Given the description of an element on the screen output the (x, y) to click on. 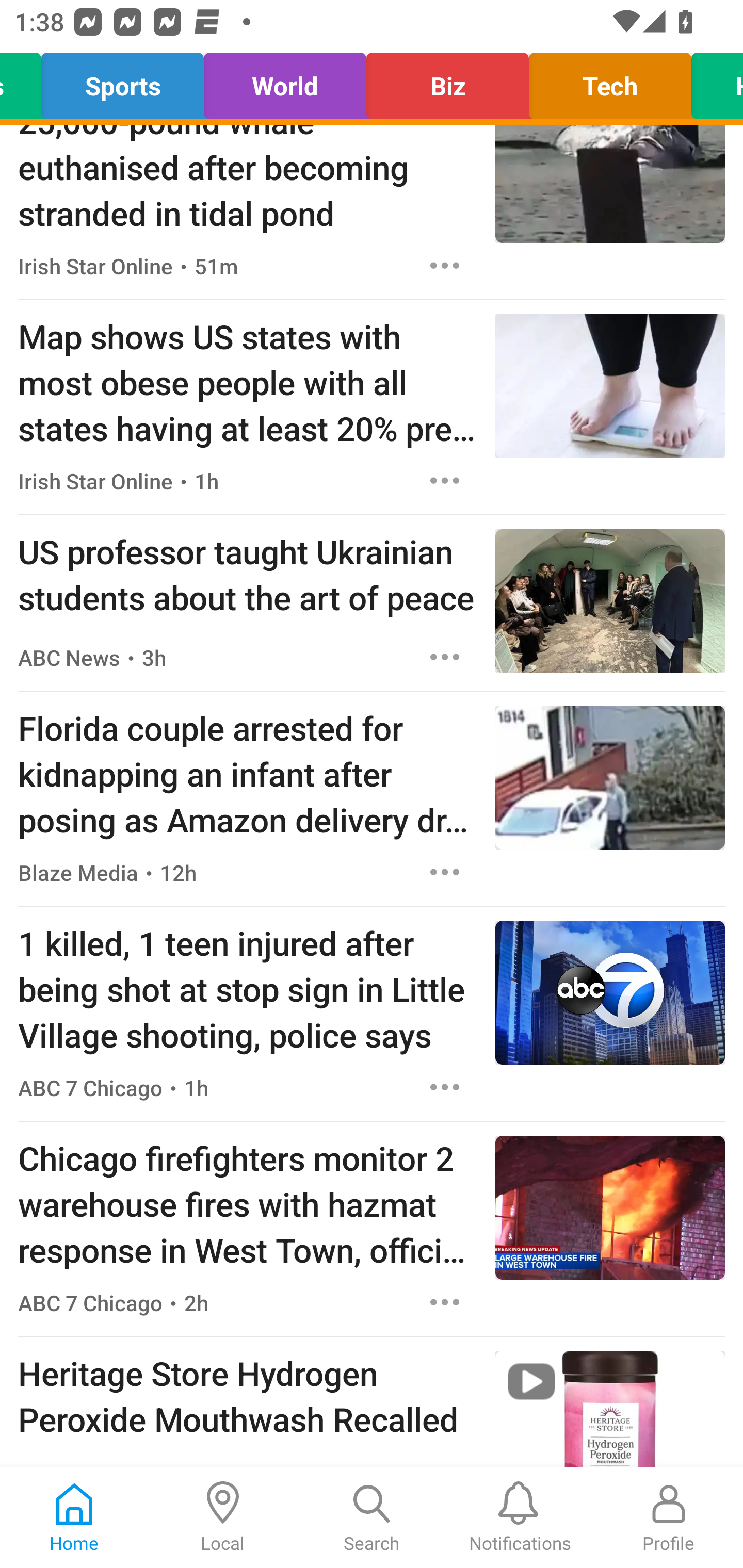
Sports (122, 81)
World (285, 81)
Biz (447, 81)
Tech (609, 81)
Options (444, 265)
Options (444, 480)
Options (444, 656)
Options (444, 871)
Options (444, 1087)
Options (444, 1302)
Local (222, 1517)
Search (371, 1517)
Notifications (519, 1517)
Profile (668, 1517)
